Given the description of an element on the screen output the (x, y) to click on. 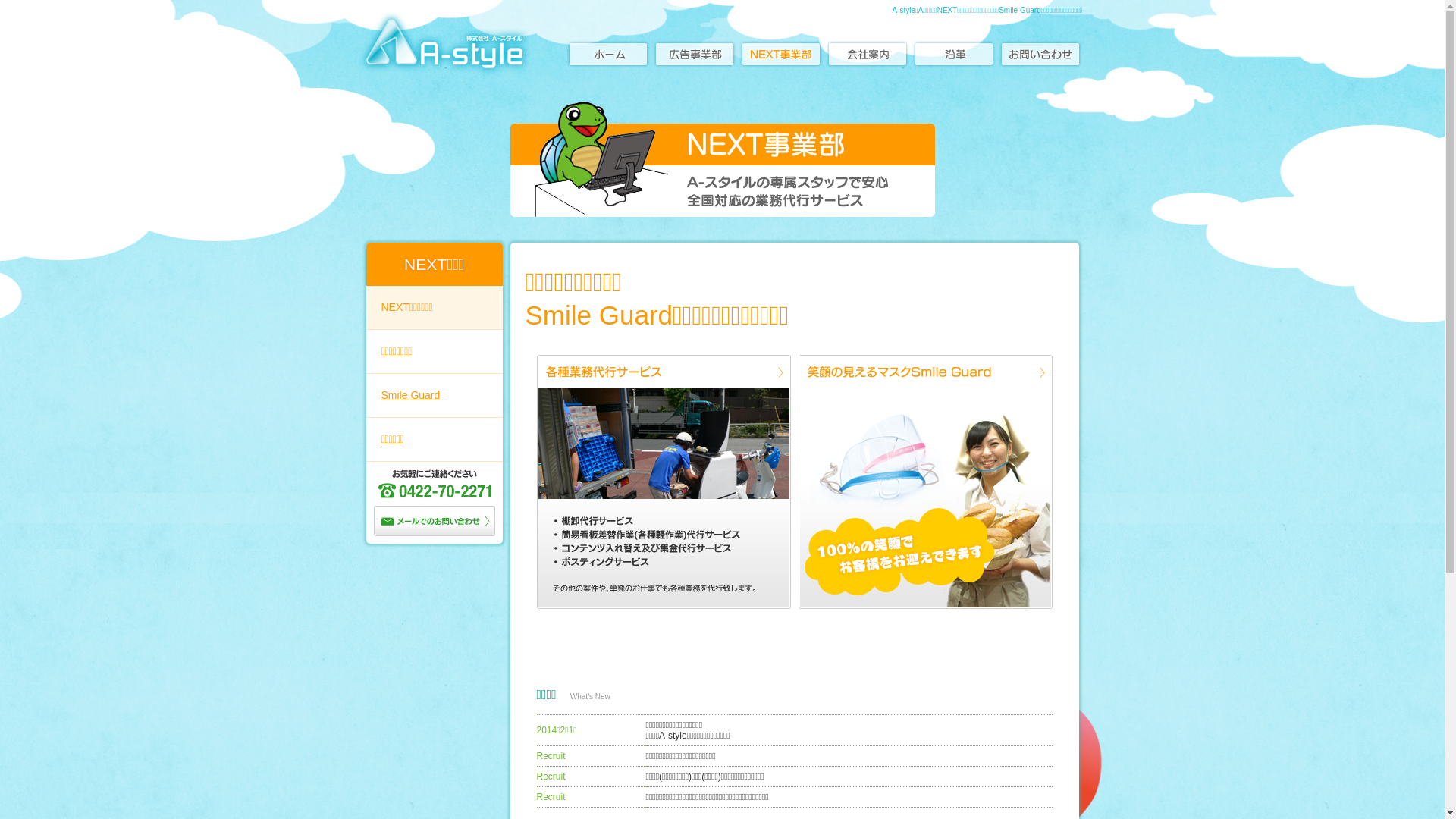
Smile Guard Element type: text (433, 395)
